Given the description of an element on the screen output the (x, y) to click on. 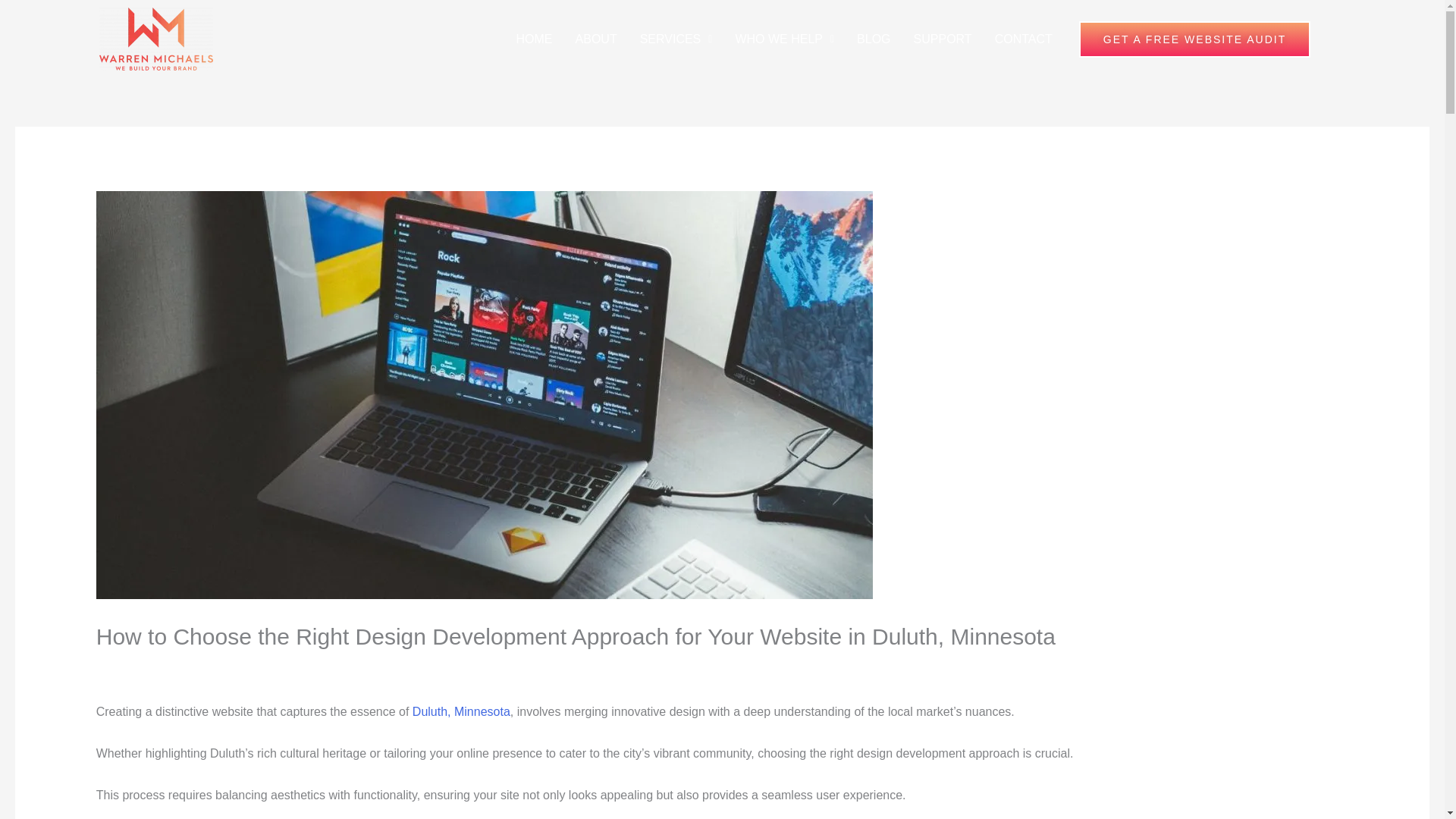
BLOG (873, 38)
SUPPORT (943, 38)
HOME (534, 38)
Web Design (135, 666)
WHO WE HELP (784, 38)
Duluth, Minnesota (461, 711)
GET A FREE WEBSITE AUDIT (1194, 39)
Mike Thorp (226, 666)
ABOUT (596, 38)
CONTACT (1024, 38)
